Given the description of an element on the screen output the (x, y) to click on. 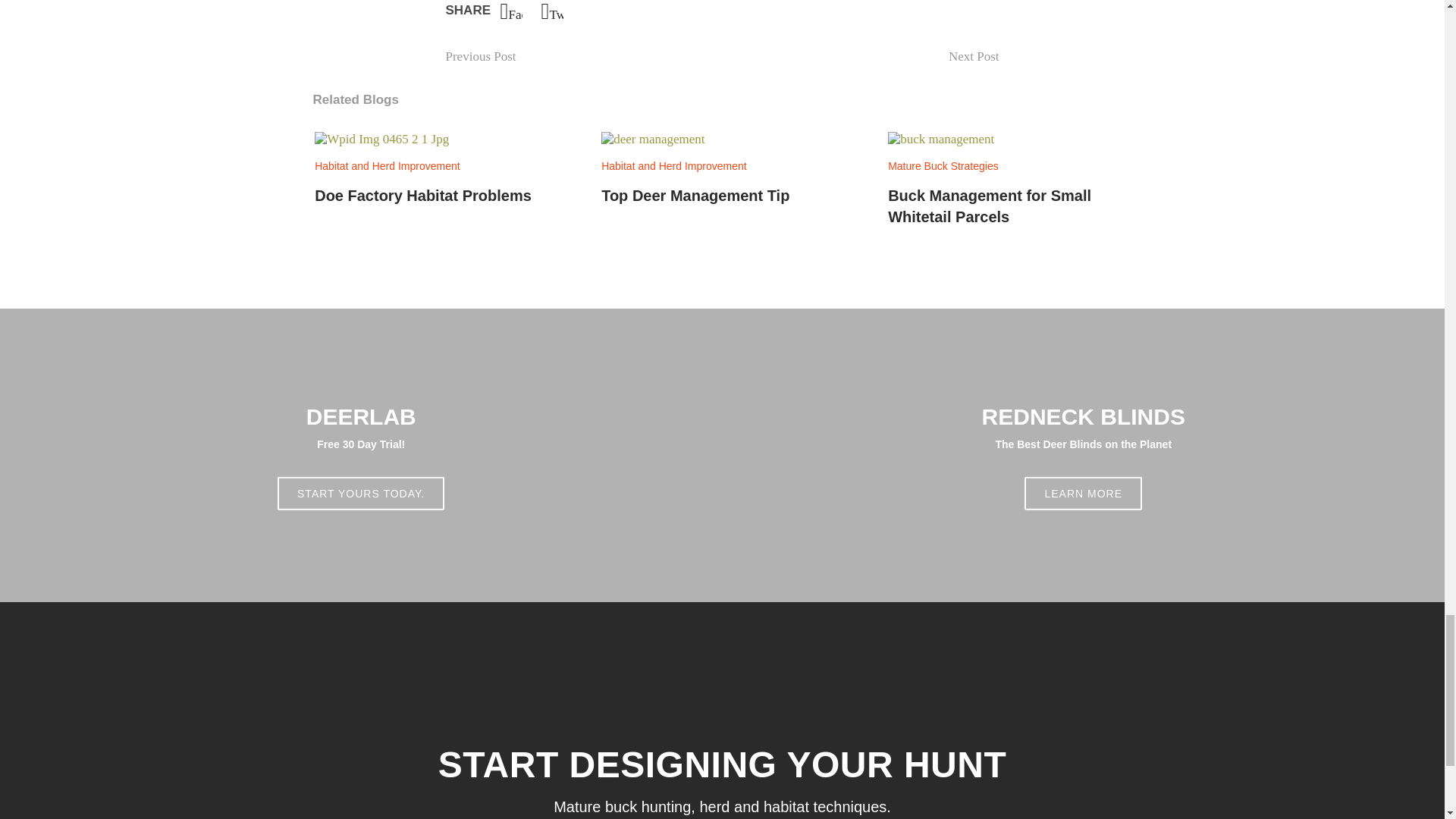
START YOURS TODAY. (361, 493)
Facebook (511, 11)
LEARN MORE (1083, 493)
Twitter (722, 168)
Previous Post (552, 11)
Next Post (480, 56)
